Given the description of an element on the screen output the (x, y) to click on. 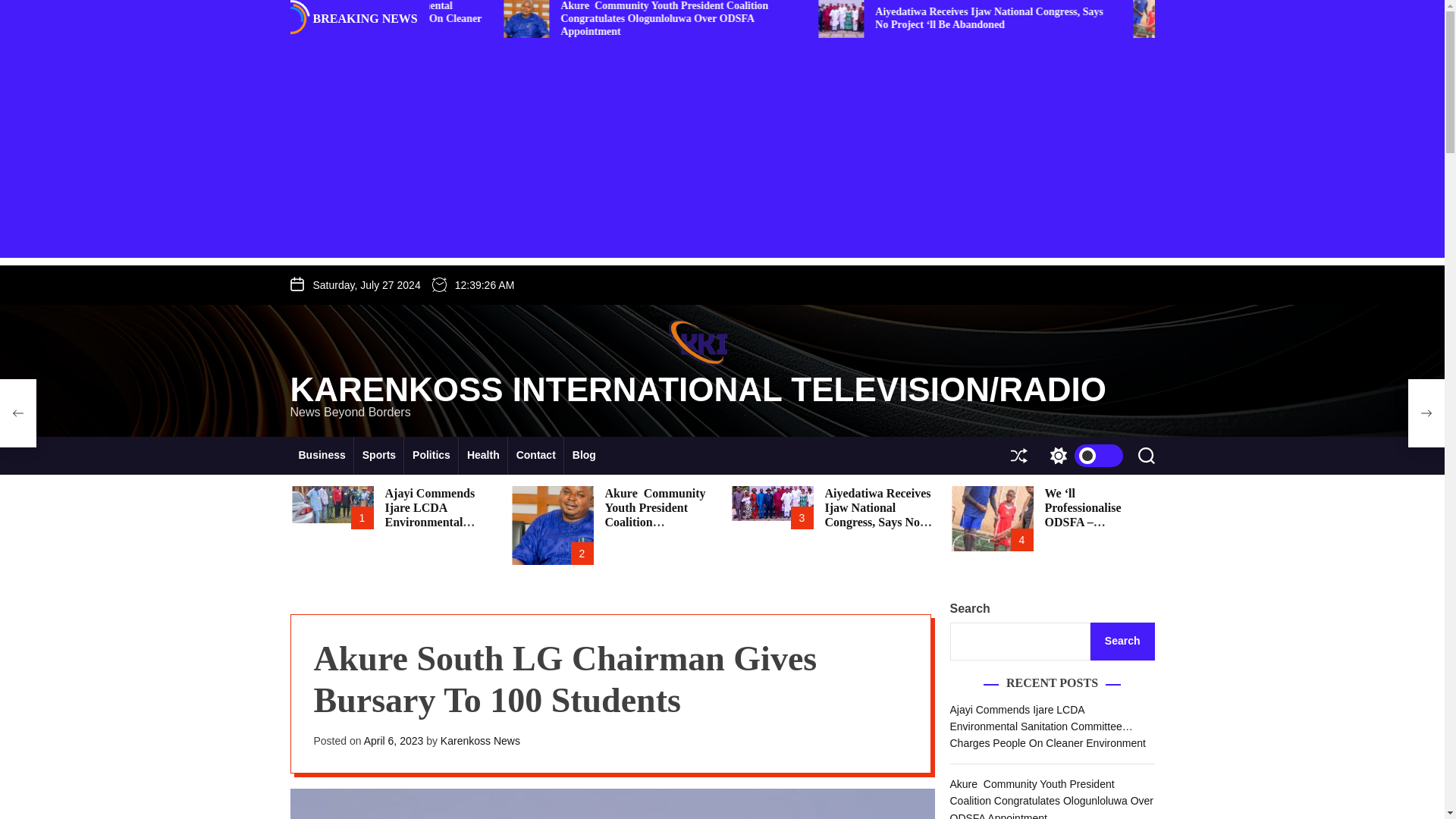
Business (321, 455)
